Given the description of an element on the screen output the (x, y) to click on. 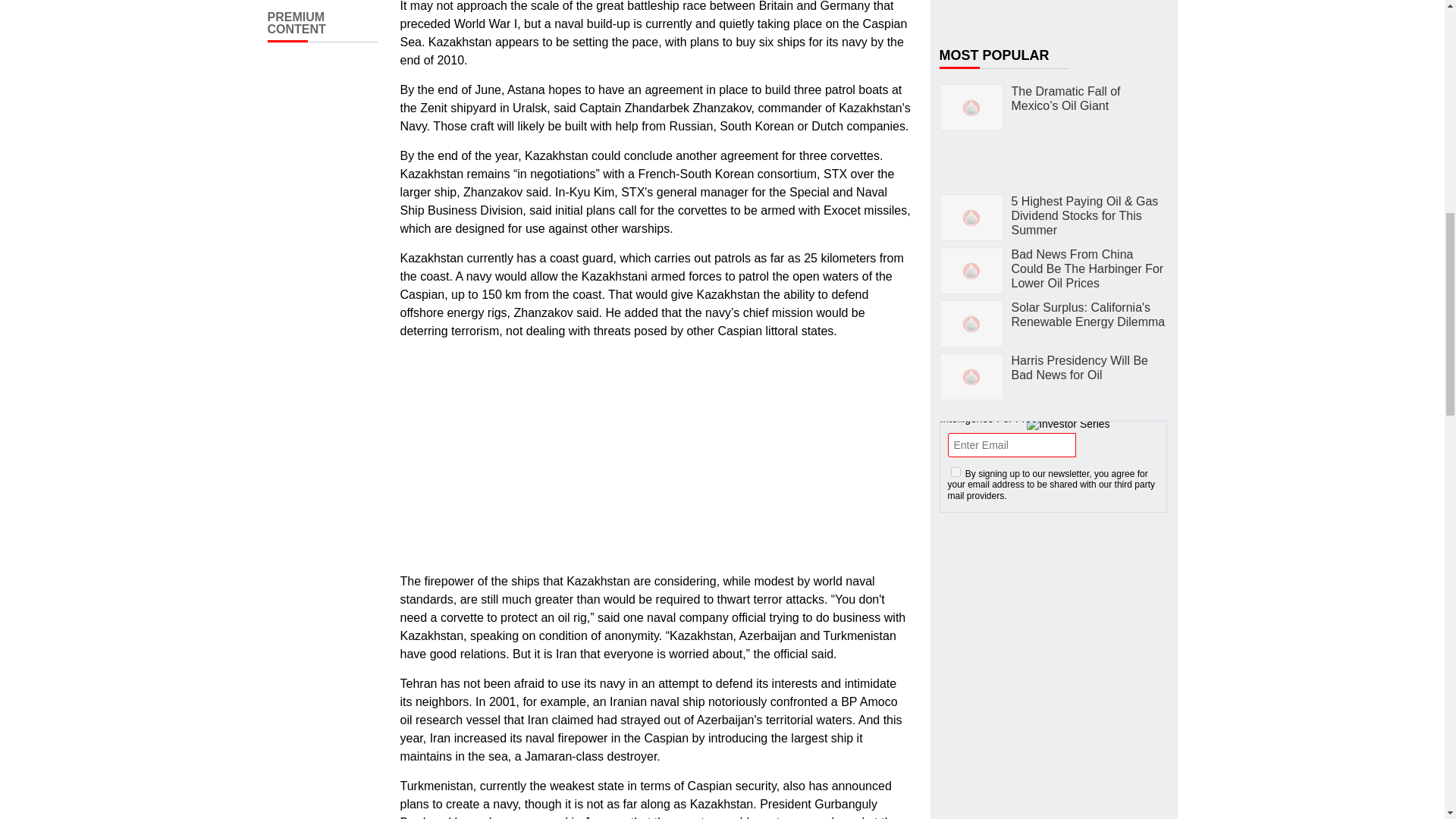
1 (955, 471)
